Given the description of an element on the screen output the (x, y) to click on. 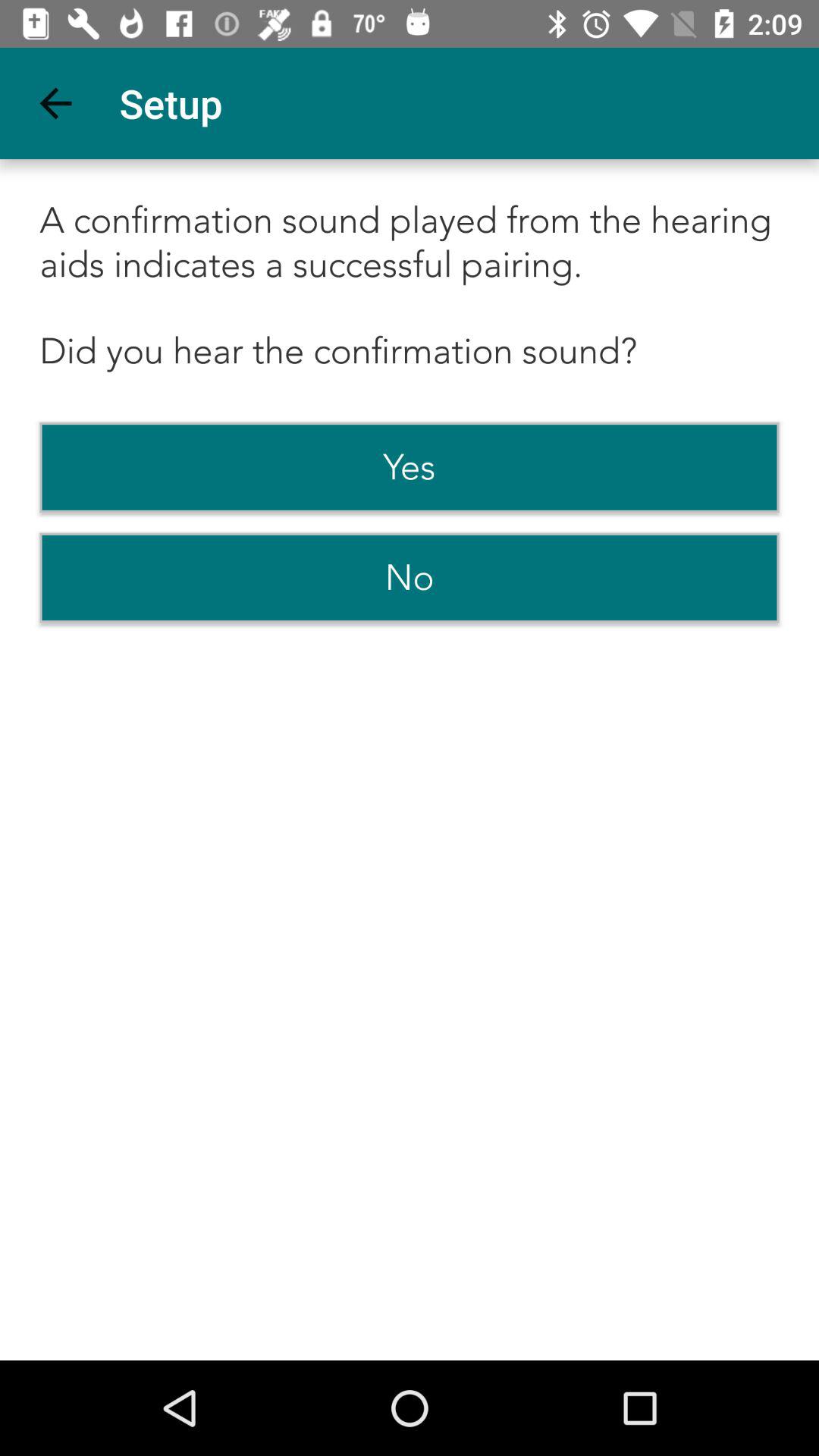
select item above the no item (409, 467)
